Given the description of an element on the screen output the (x, y) to click on. 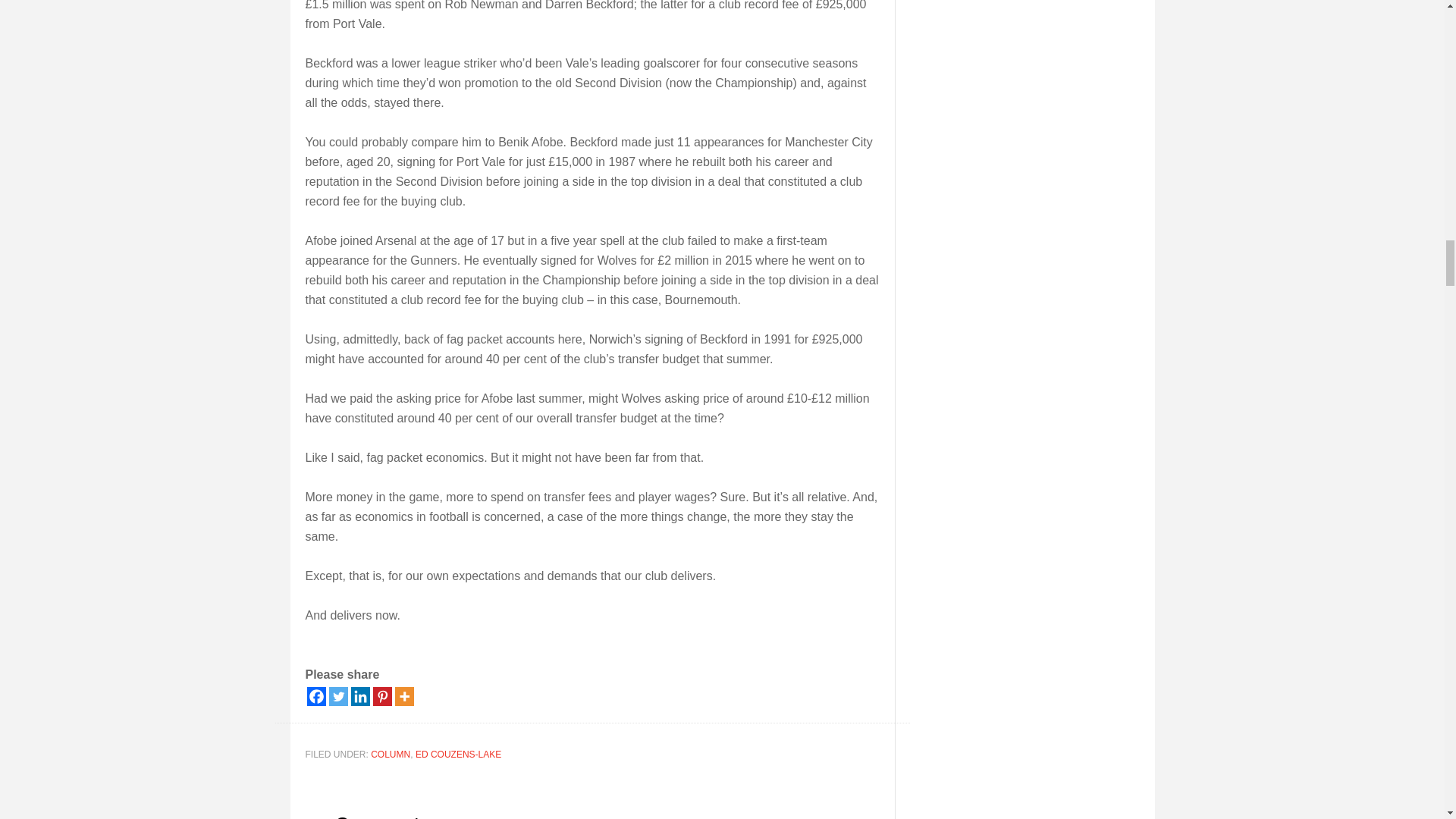
Facebook (314, 696)
Twitter (338, 696)
More (403, 696)
COLUMN (390, 754)
Pinterest (381, 696)
Linkedin (359, 696)
ED COUZENS-LAKE (457, 754)
